Given the description of an element on the screen output the (x, y) to click on. 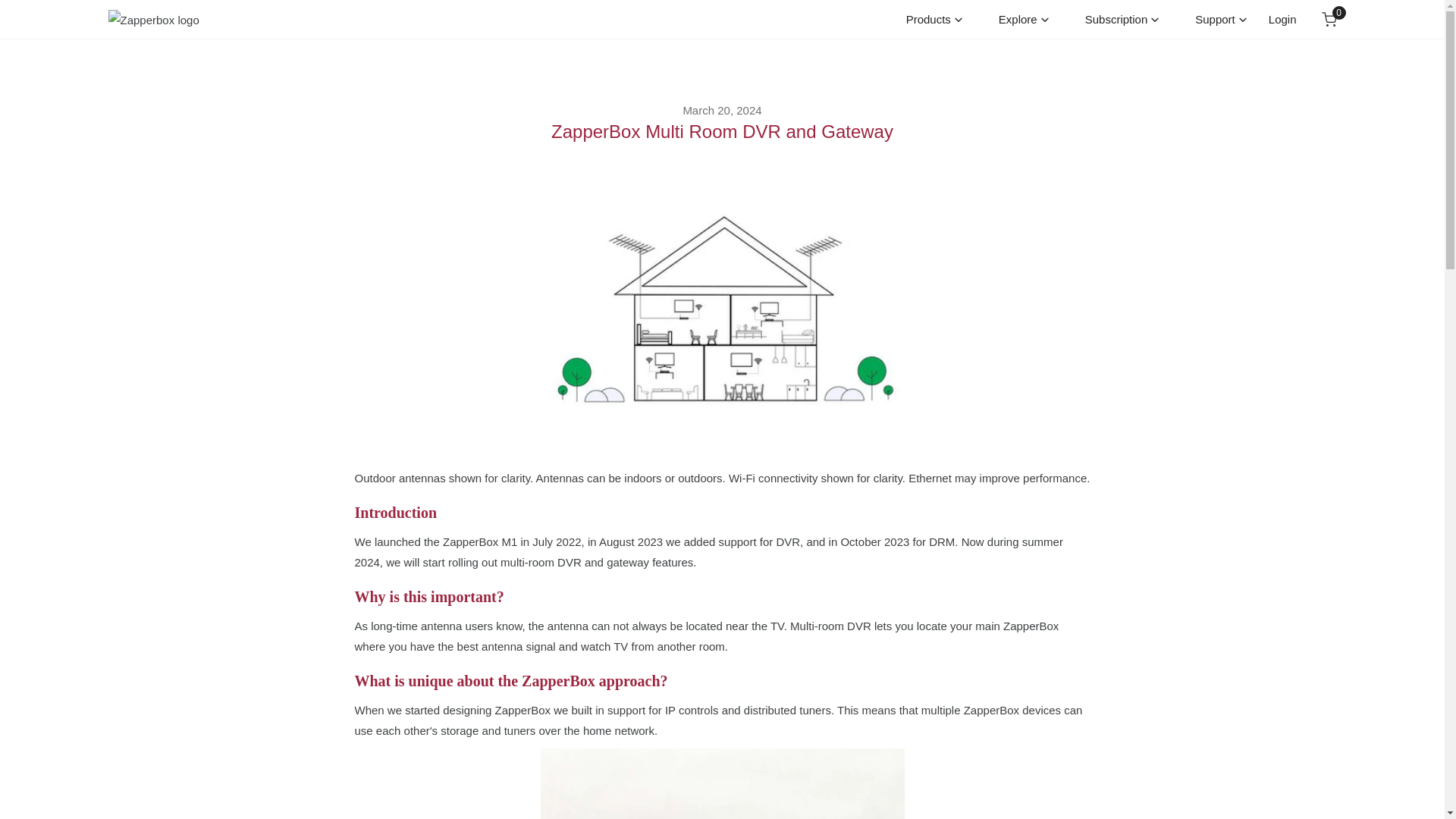
ZapperBox (154, 18)
Explore (1023, 19)
Skip to content (24, 18)
Subscription (1122, 19)
Products (1328, 19)
Support (933, 19)
Login (1220, 19)
